Given the description of an element on the screen output the (x, y) to click on. 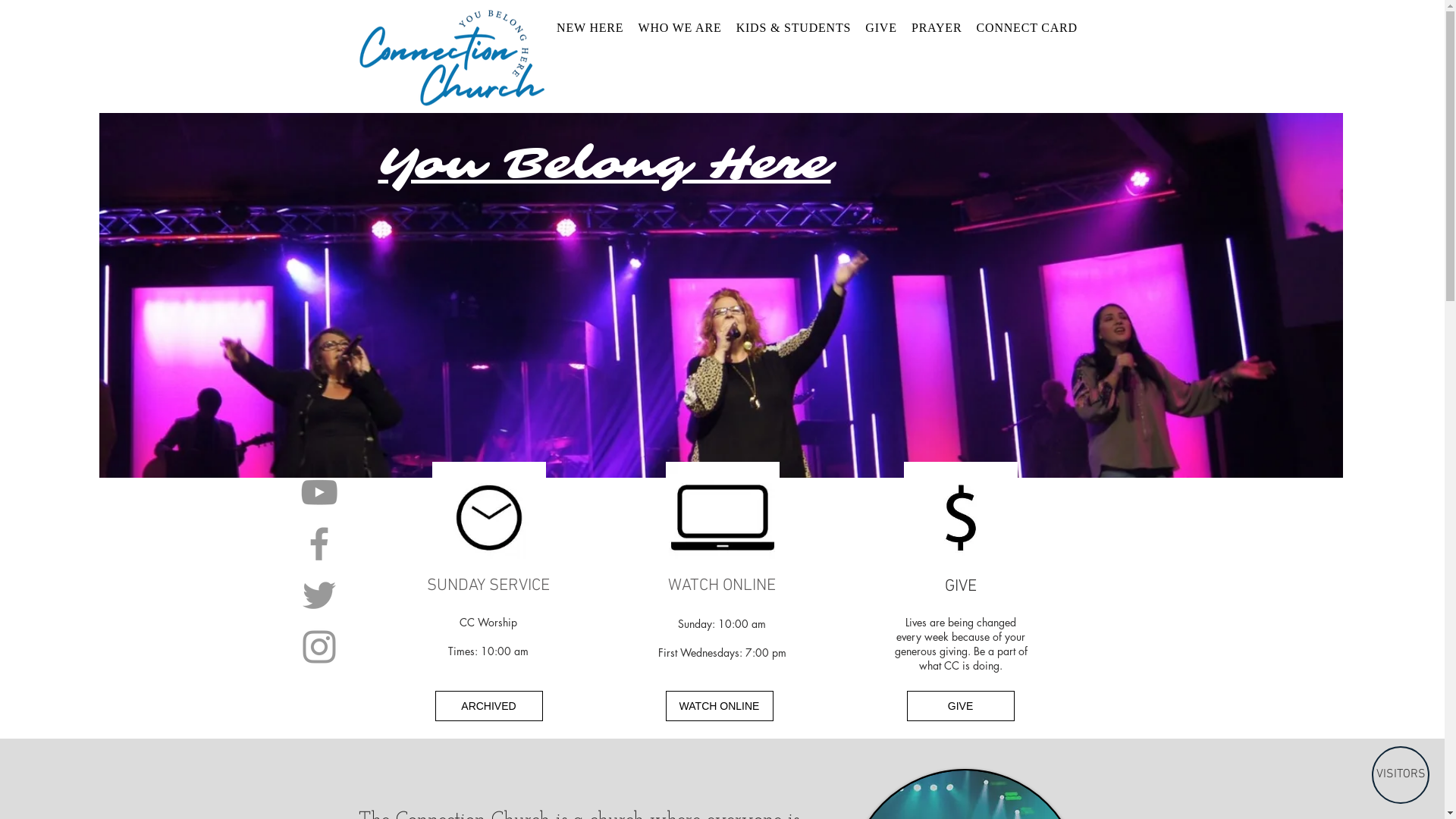
GIVE Element type: text (881, 27)
ARCHIVED Element type: text (488, 705)
NEW HERE Element type: text (590, 27)
KIDS & STUDENTS Element type: text (793, 27)
PRAYER Element type: text (936, 27)
GIVE Element type: text (960, 705)
You Belong Here Element type: text (603, 163)
WHO WE ARE Element type: text (679, 27)
CONNECT CARD Element type: text (1026, 27)
WATCH ONLINE Element type: text (719, 705)
VISITORS Element type: text (1400, 774)
